Given the description of an element on the screen output the (x, y) to click on. 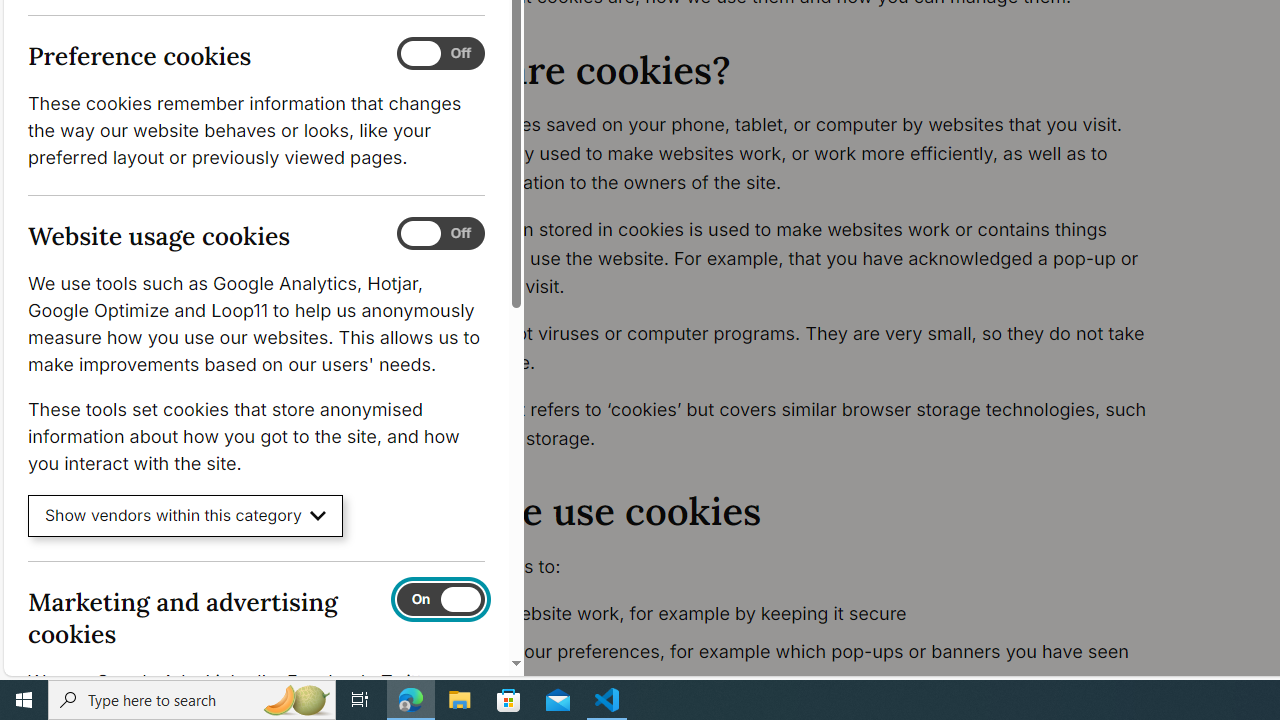
make our website work, for example by keeping it secure (796, 614)
Preference cookies (440, 53)
Show vendors within this category (185, 516)
Marketing and advertising cookies (440, 599)
Website usage cookies (440, 233)
